Given the description of an element on the screen output the (x, y) to click on. 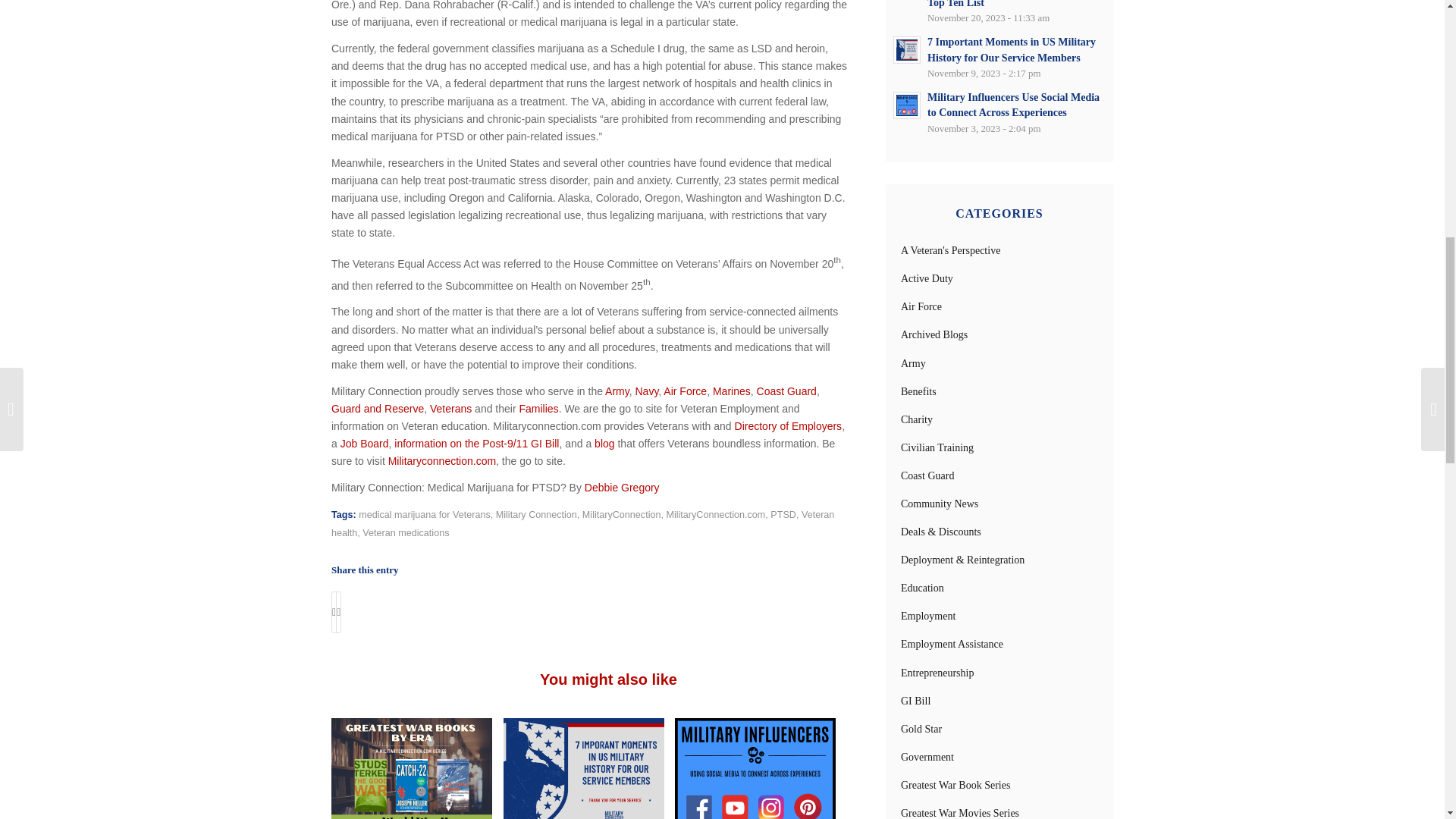
Veteran health (582, 523)
Debbie Gregory (622, 487)
MilitaryConnection.com (715, 514)
blog (604, 443)
Militaryconnection.com (442, 460)
Marines (732, 390)
Veteran medications (405, 532)
Army (616, 390)
Air Force (684, 390)
Veterans (450, 408)
Families (537, 408)
medical marijuana for Veterans (424, 514)
Navy (646, 390)
Military Connection (536, 514)
